Given the description of an element on the screen output the (x, y) to click on. 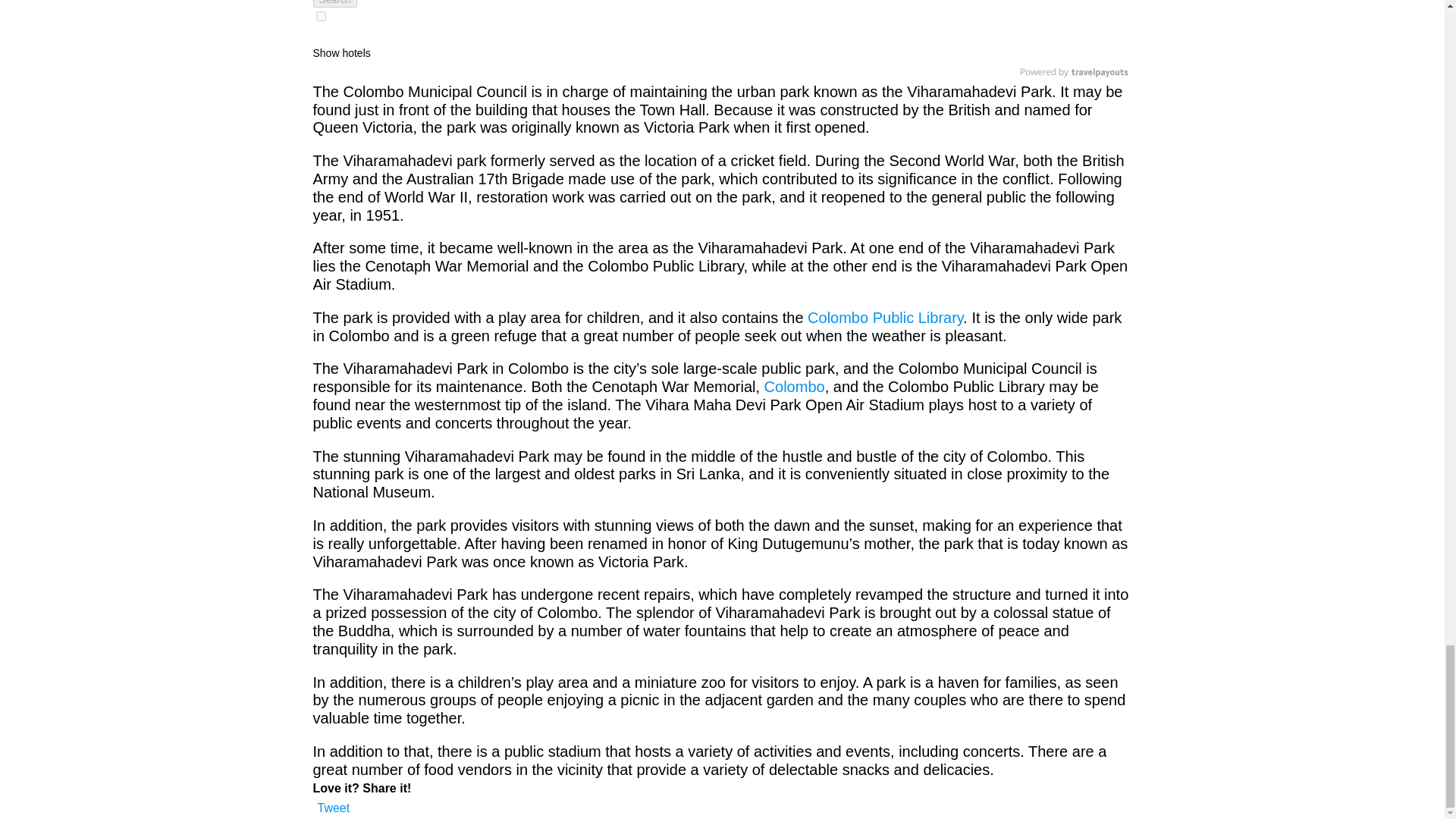
Colombo (794, 386)
Colombo Public Library (885, 317)
Tweet (333, 808)
